Given the description of an element on the screen output the (x, y) to click on. 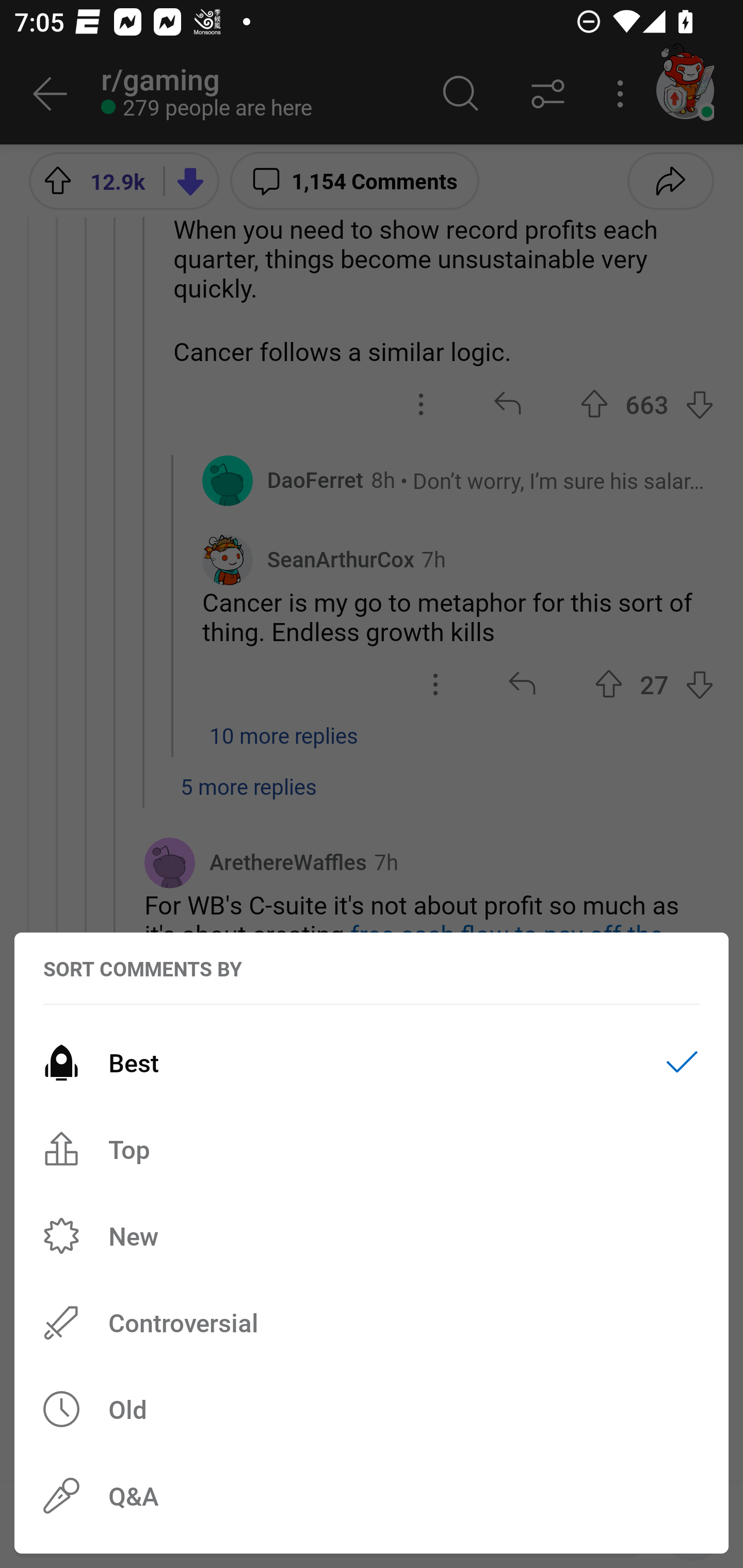
SORT COMMENTS BY Sort comments options (142, 968)
Best (371, 1062)
Top (371, 1149)
New (371, 1236)
Controversial (371, 1322)
Old (371, 1408)
Q&A (371, 1495)
